Given the description of an element on the screen output the (x, y) to click on. 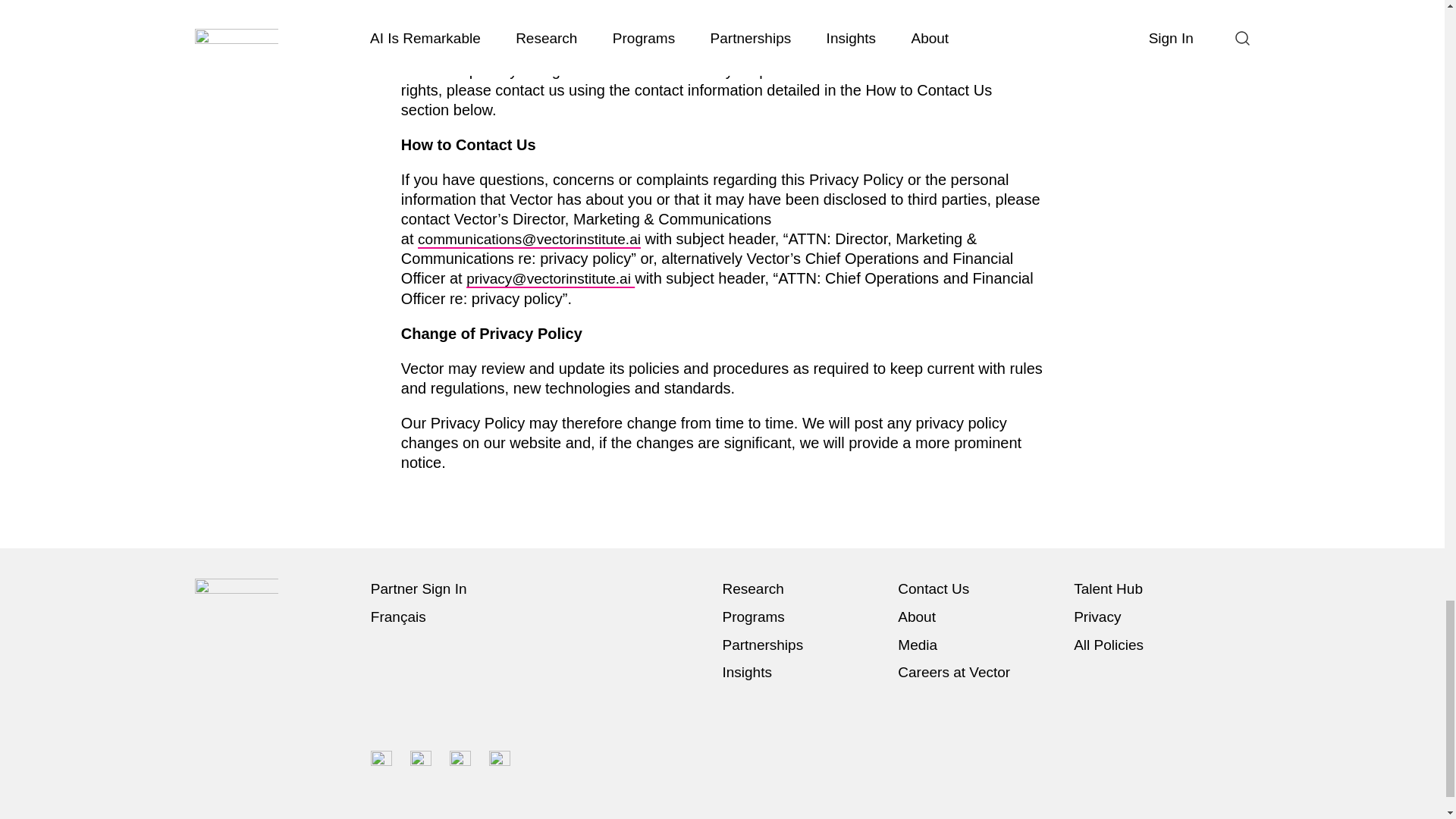
Language switcher : French (402, 616)
